Given the description of an element on the screen output the (x, y) to click on. 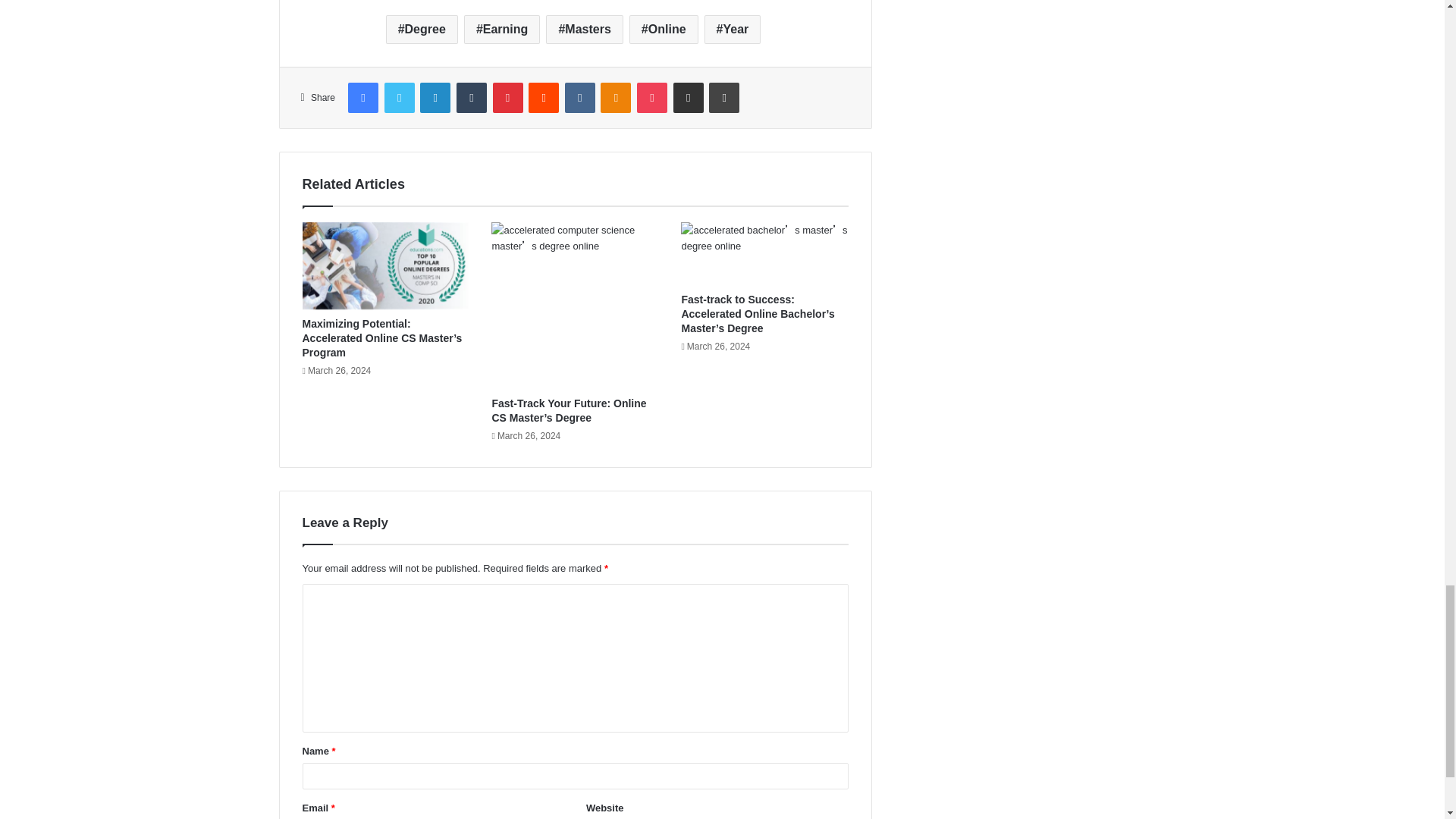
Year (732, 29)
Online (663, 29)
Masters (584, 29)
Degree (421, 29)
Earning (502, 29)
